Given the description of an element on the screen output the (x, y) to click on. 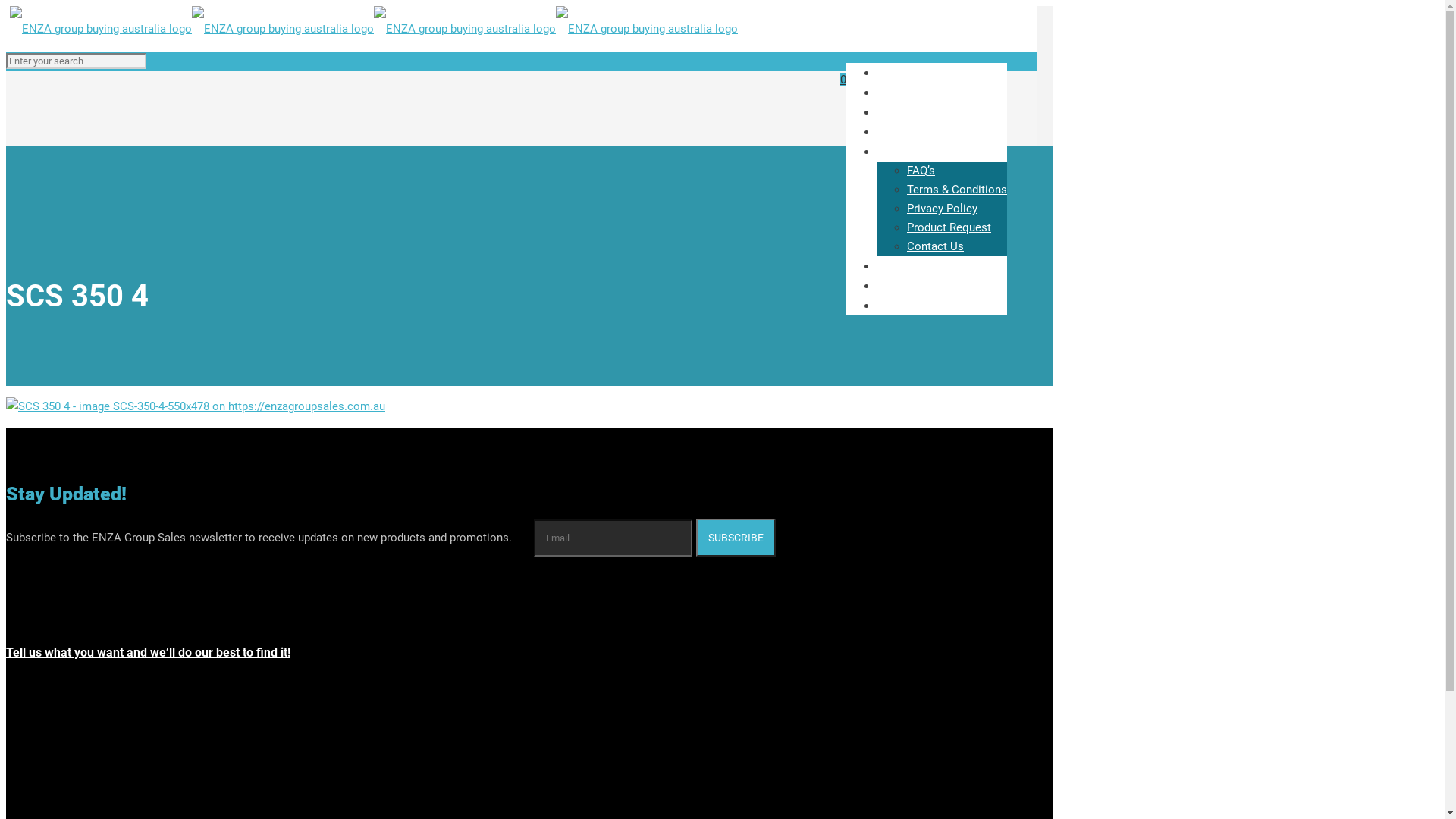
About ENZA Element type: text (917, 91)
Why It Works Element type: text (920, 265)
SUBSCRIBE Element type: text (735, 537)
Terms & Conditions Element type: text (956, 189)
Contact Us Element type: text (934, 246)
Info Element type: text (894, 150)
Product Request Element type: text (948, 227)
Login Element type: text (899, 304)
Home Element type: text (900, 72)
0 Element type: text (843, 79)
Privacy Policy Element type: text (941, 208)
ENZA Group Sales Element type: hover (373, 28)
Group Buying Element type: text (920, 131)
Buy Now Element type: text (907, 111)
Sign up Element type: text (904, 285)
